Given the description of an element on the screen output the (x, y) to click on. 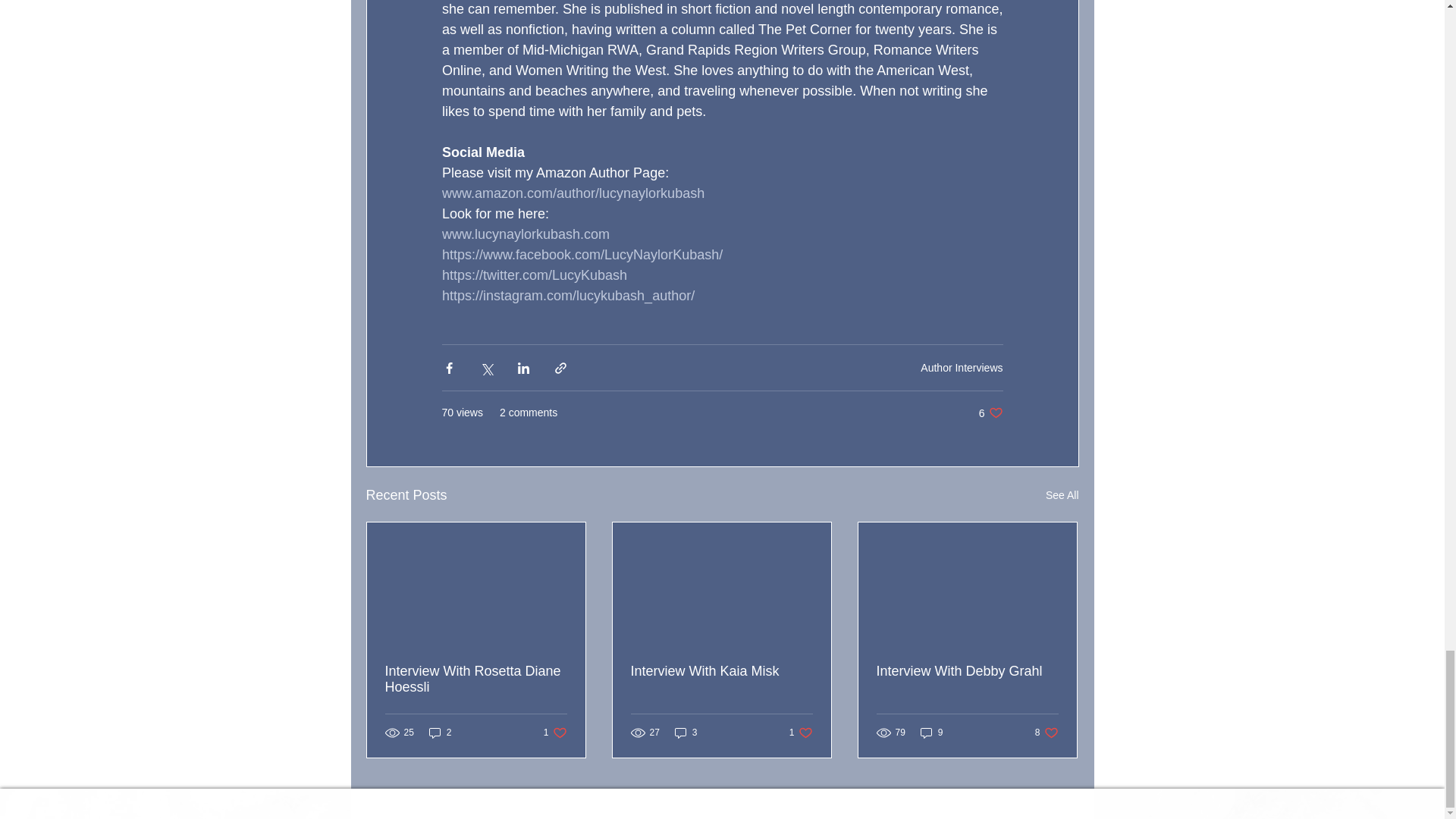
9 (931, 732)
Author Interviews (961, 367)
Interview With Kaia Misk (721, 671)
Interview With Rosetta Diane Hoessli (555, 732)
See All (1046, 732)
Interview With Debby Grahl (476, 679)
3 (1061, 495)
